Given the description of an element on the screen output the (x, y) to click on. 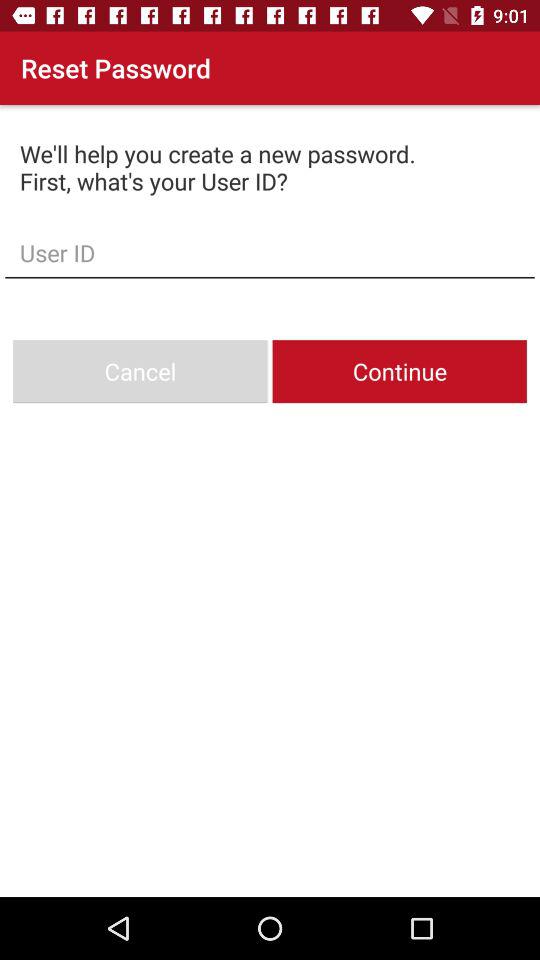
press the continue (399, 371)
